Given the description of an element on the screen output the (x, y) to click on. 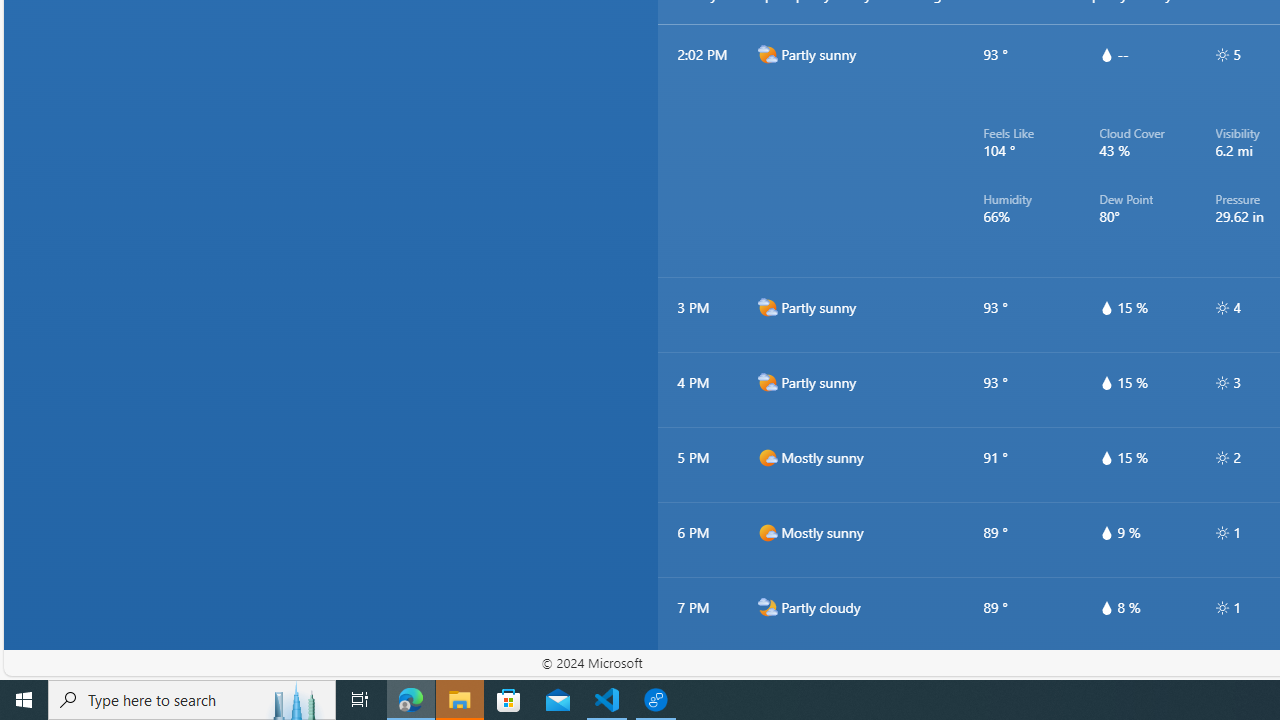
hourlyTable/drop (1106, 607)
n2000 (767, 682)
d1000 (767, 532)
hourlyTable/uv (1222, 607)
d2000 (767, 382)
